Given the description of an element on the screen output the (x, y) to click on. 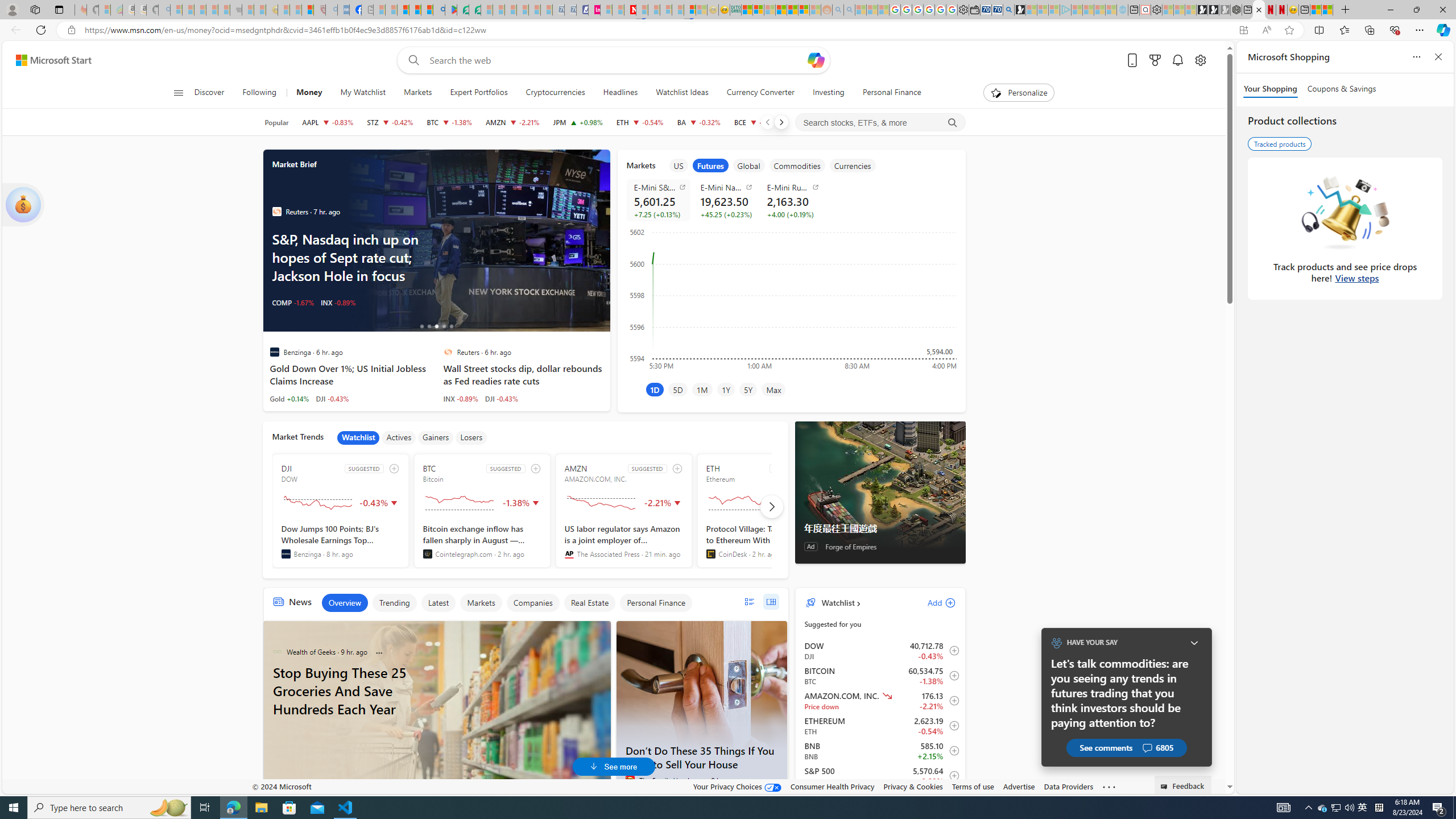
item3 (748, 164)
Cryptocurrencies (555, 92)
